Given the description of an element on the screen output the (x, y) to click on. 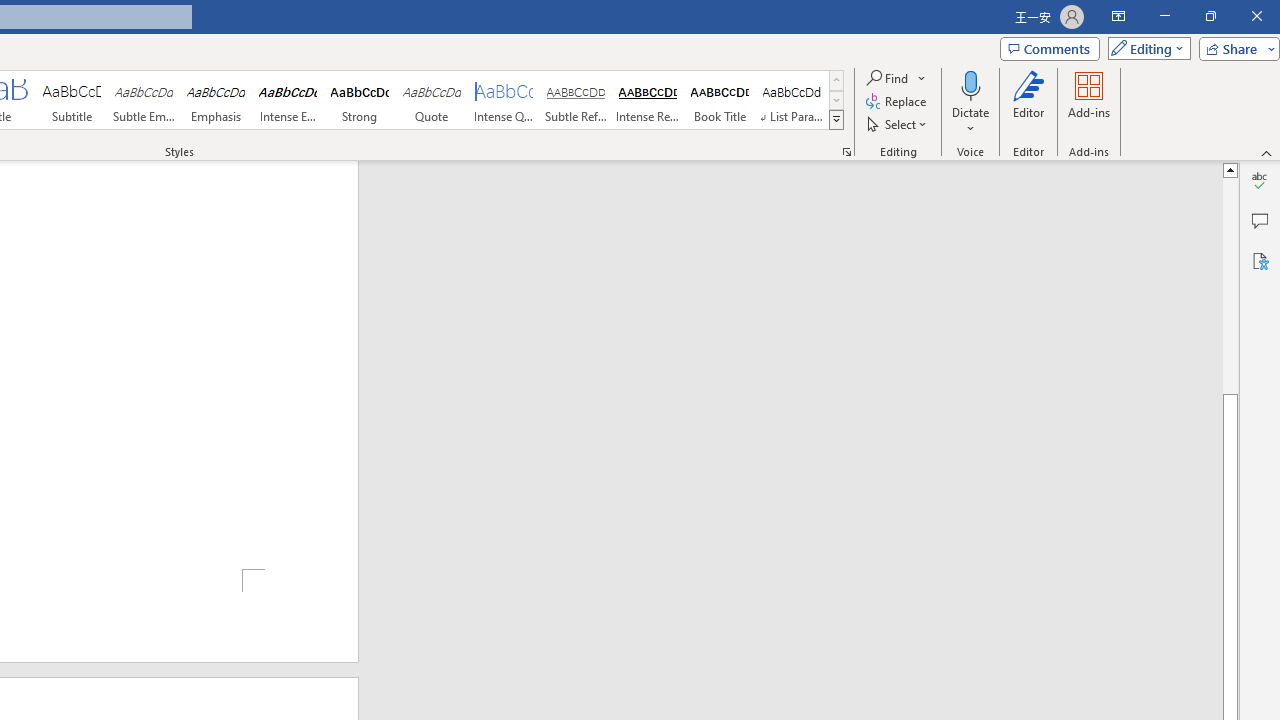
Strong (359, 100)
Row Down (836, 100)
Styles... (846, 151)
Intense Reference (647, 100)
Accessibility (1260, 260)
Emphasis (216, 100)
